Given the description of an element on the screen output the (x, y) to click on. 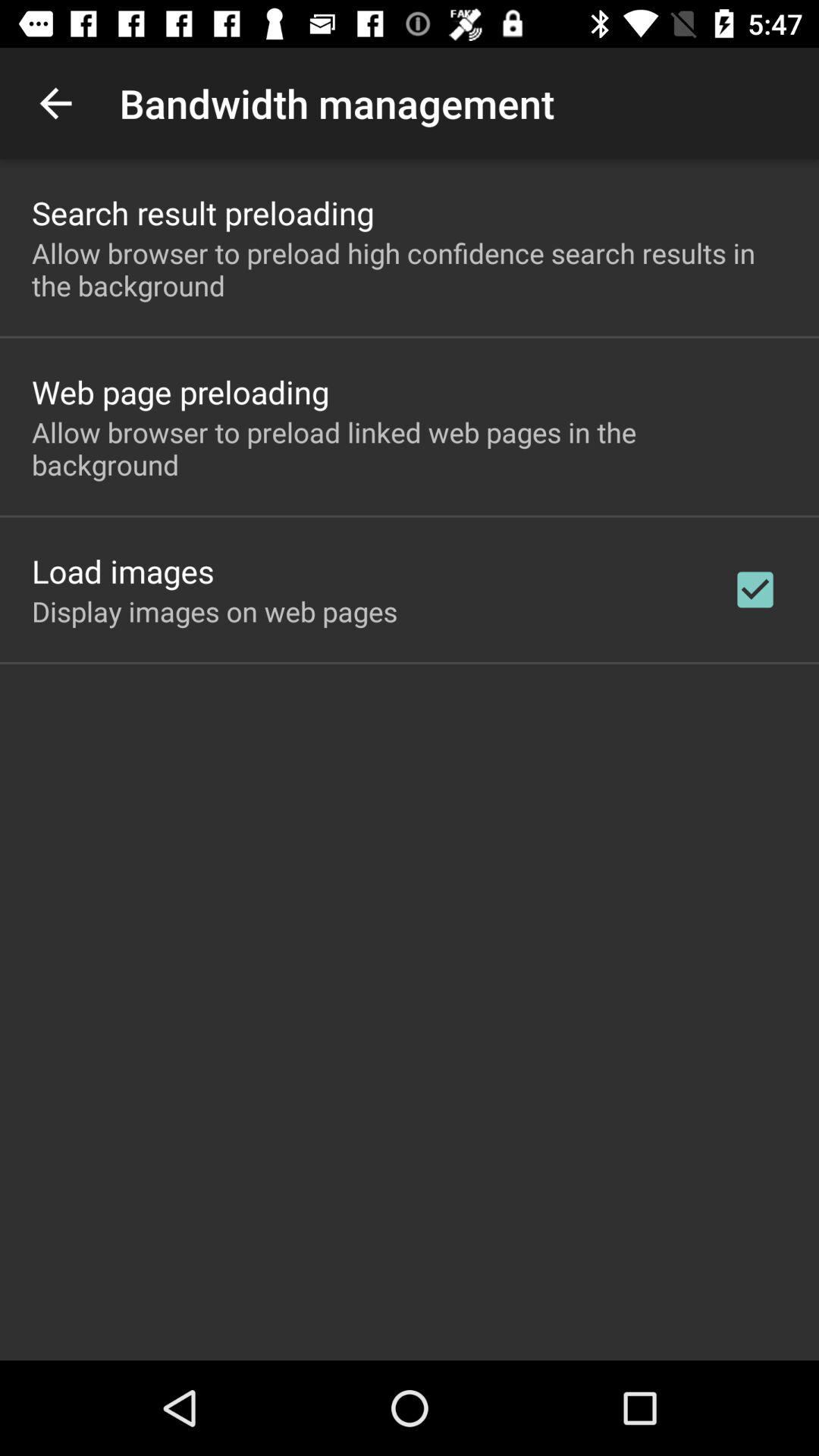
open the app below the allow browser to app (122, 570)
